Given the description of an element on the screen output the (x, y) to click on. 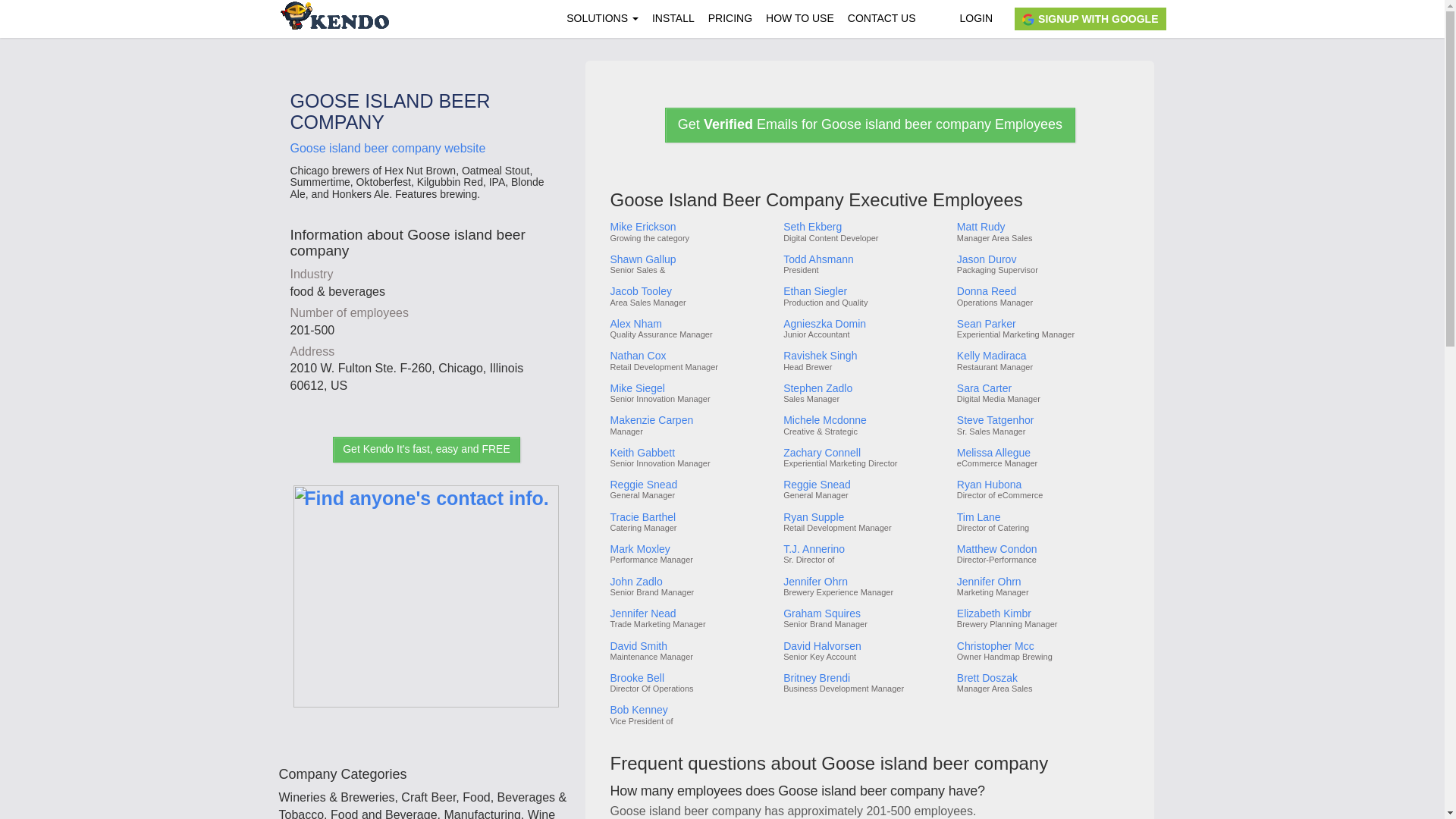
LOGIN (975, 18)
Sean Parker (1041, 324)
Mike Siegel (690, 388)
HOW TO USE (799, 18)
CONTACT US (882, 18)
Jason Durov (1041, 259)
Seth Ekberg (863, 226)
Kelly Madiraca (1041, 355)
INSTALL (673, 18)
Sara Carter (1041, 388)
